Given the description of an element on the screen output the (x, y) to click on. 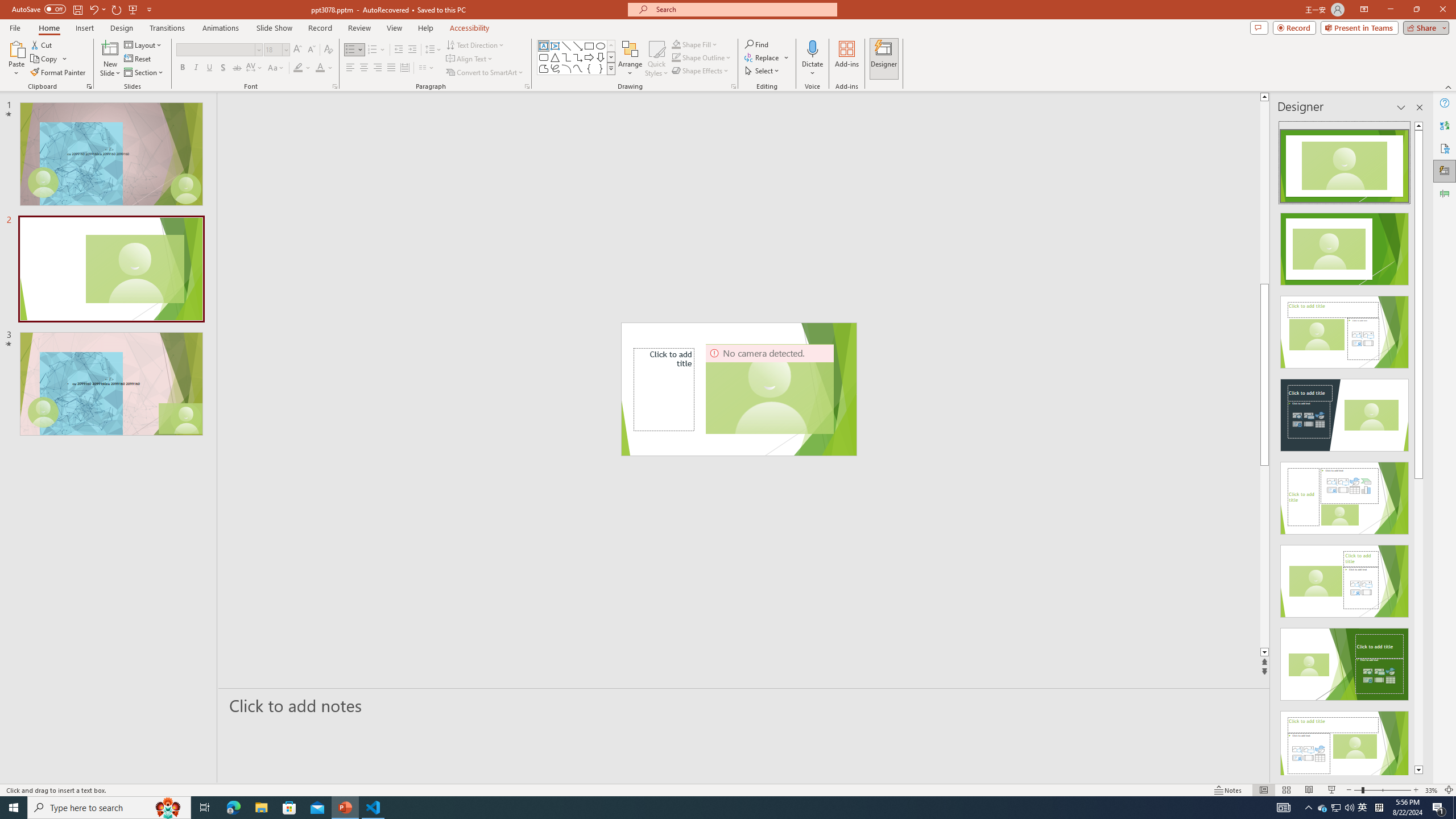
Slide Notes (743, 705)
